Given the description of an element on the screen output the (x, y) to click on. 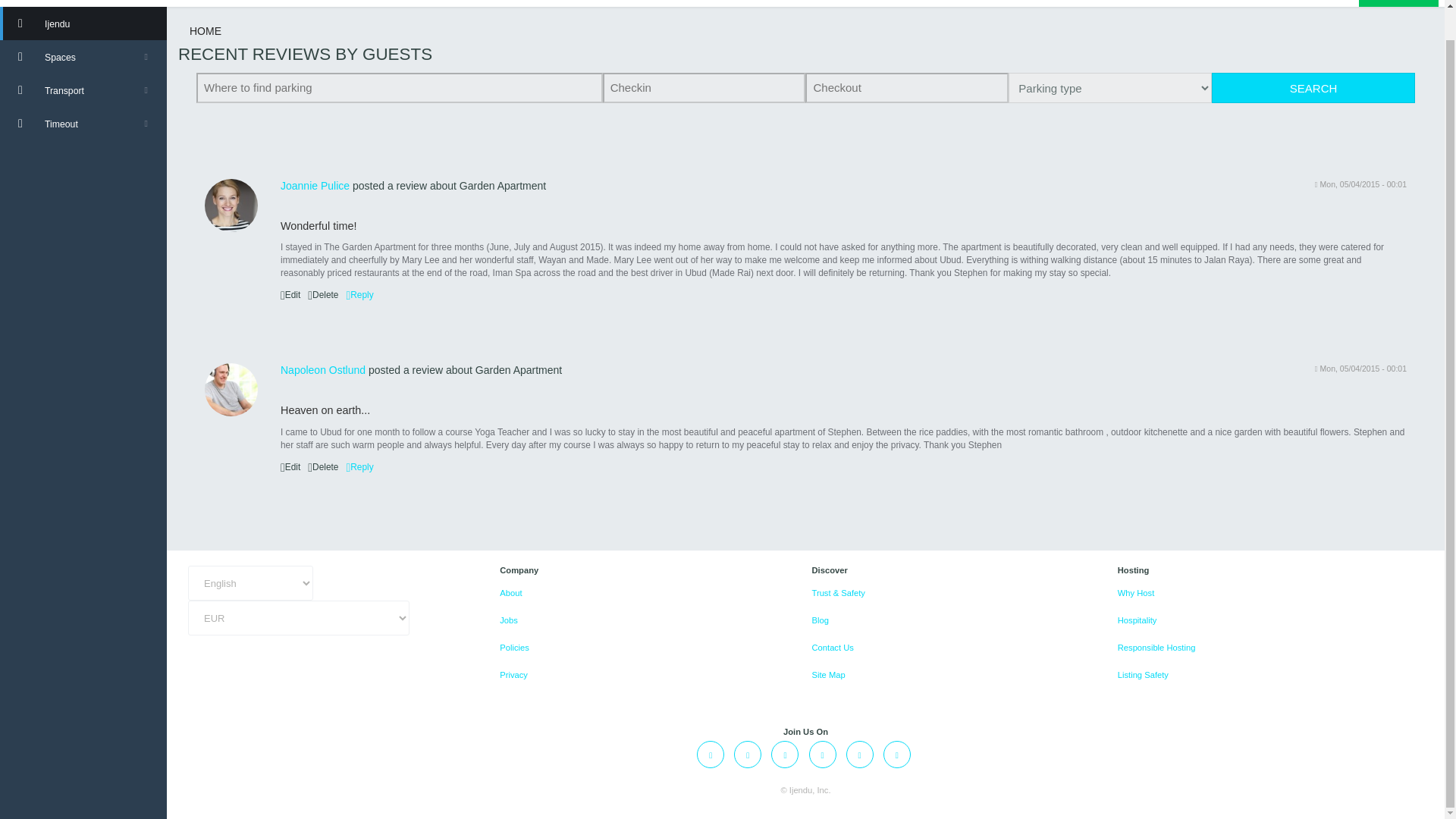
Heaven on earth... (325, 410)
Delete (322, 294)
Joannie Pulice (315, 185)
Wonderful time! (318, 225)
Delete (322, 466)
HOME (205, 30)
Reply (359, 294)
Reply (359, 466)
Edit (290, 294)
Edit (290, 466)
View user profile. (323, 369)
Jobs (508, 619)
View user profile. (231, 389)
Napoleon Ostlund (323, 369)
Ijendu (83, 23)
